Given the description of an element on the screen output the (x, y) to click on. 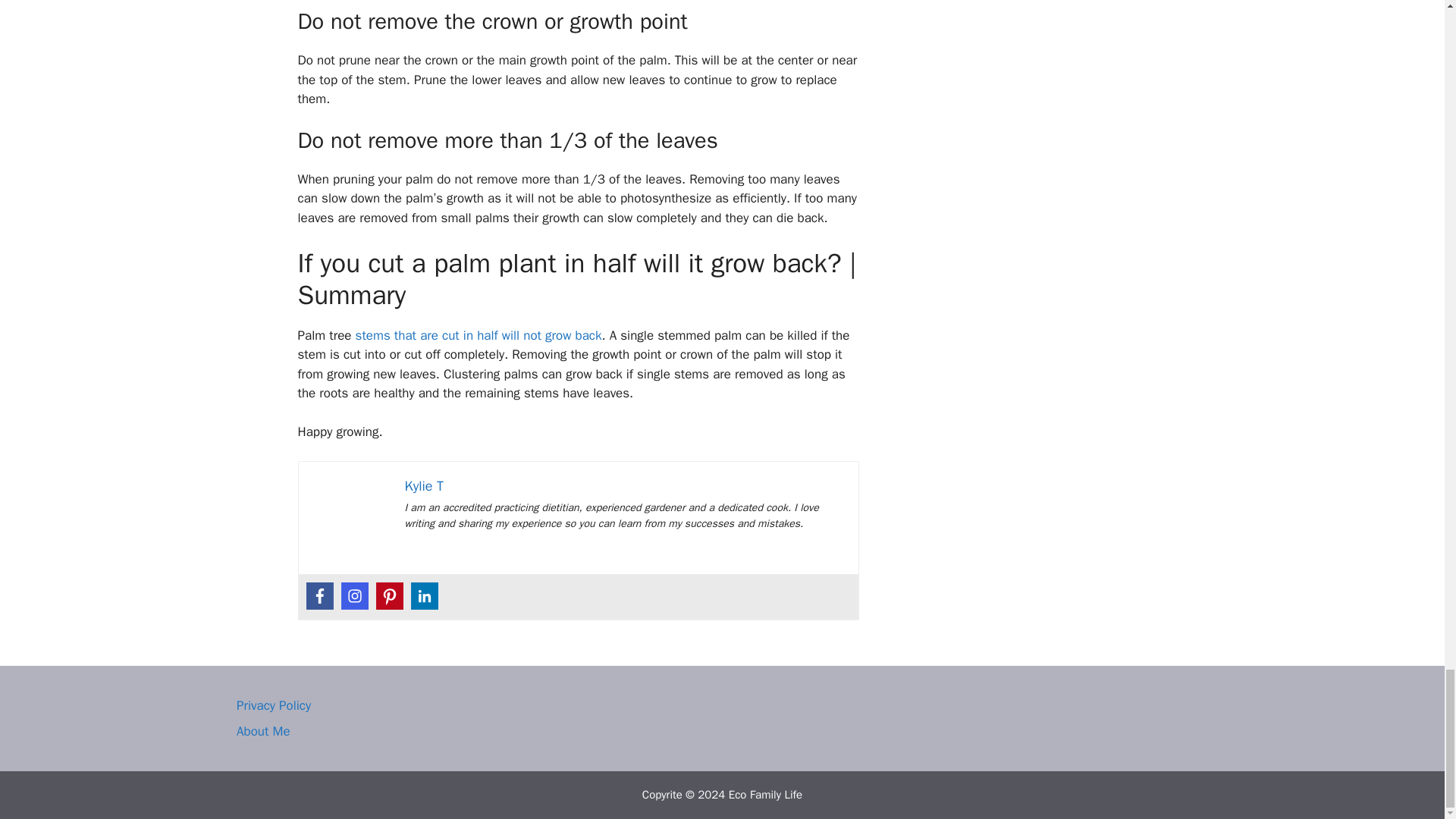
Linkedin (424, 595)
Facebook (319, 595)
Kylie T (424, 485)
Privacy Policy (273, 705)
About Me (262, 731)
stems that are cut in half will not grow back (478, 335)
Instagram (354, 595)
Pinterest (389, 595)
